Given the description of an element on the screen output the (x, y) to click on. 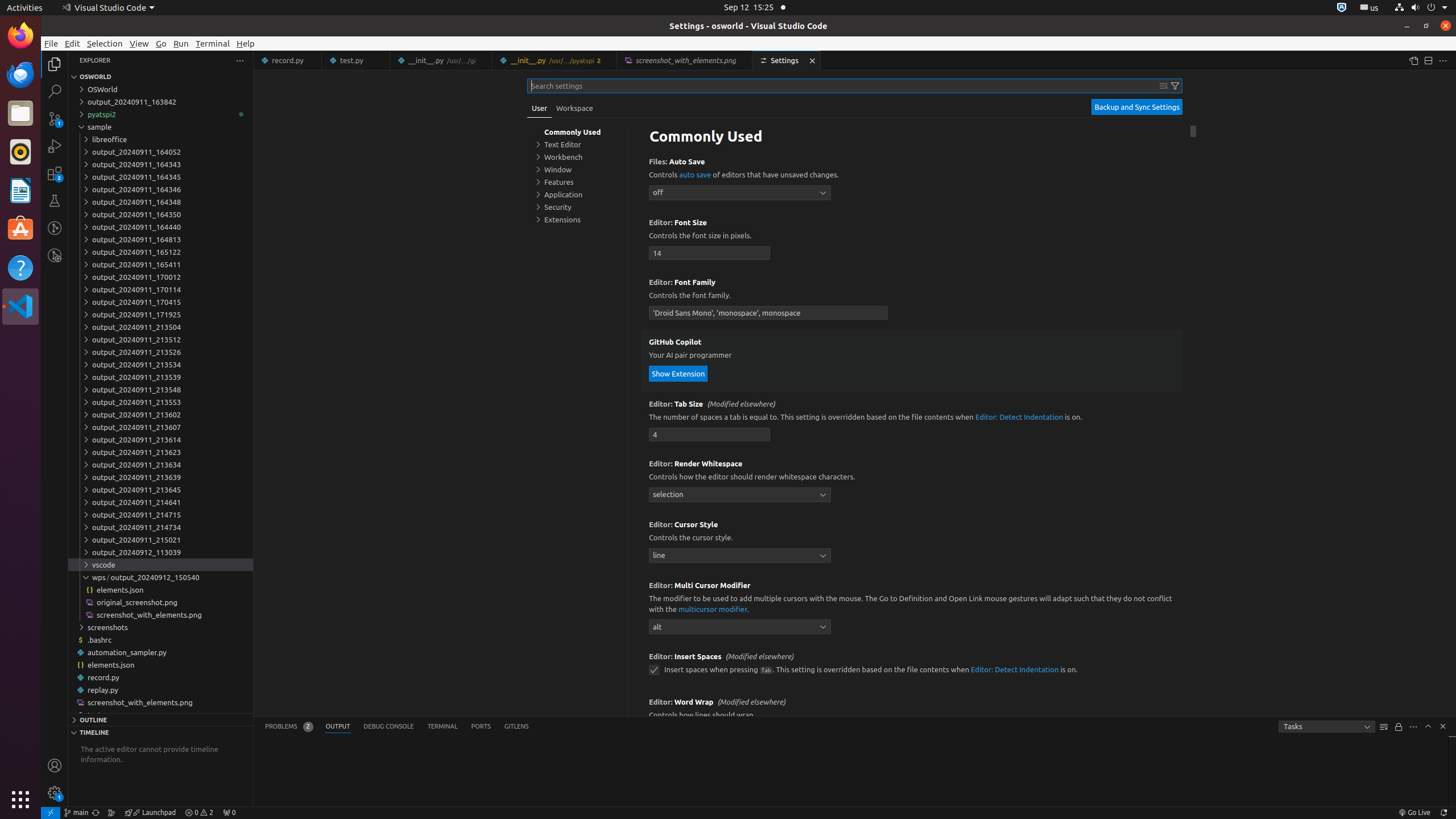
Accounts Element type: push-button (54, 765)
Window, group Element type: tree-item (577, 169)
Editor Insert Spaces. Insert spaces when pressing Tab. This setting is overridden based on the file contents when "Editor: Detect Indentation" is on.  Element type: tree-item (911, 666)
Features, group Element type: tree-item (577, 181)
Search (Ctrl+Shift+F) Element type: page-tab (54, 91)
